Given the description of an element on the screen output the (x, y) to click on. 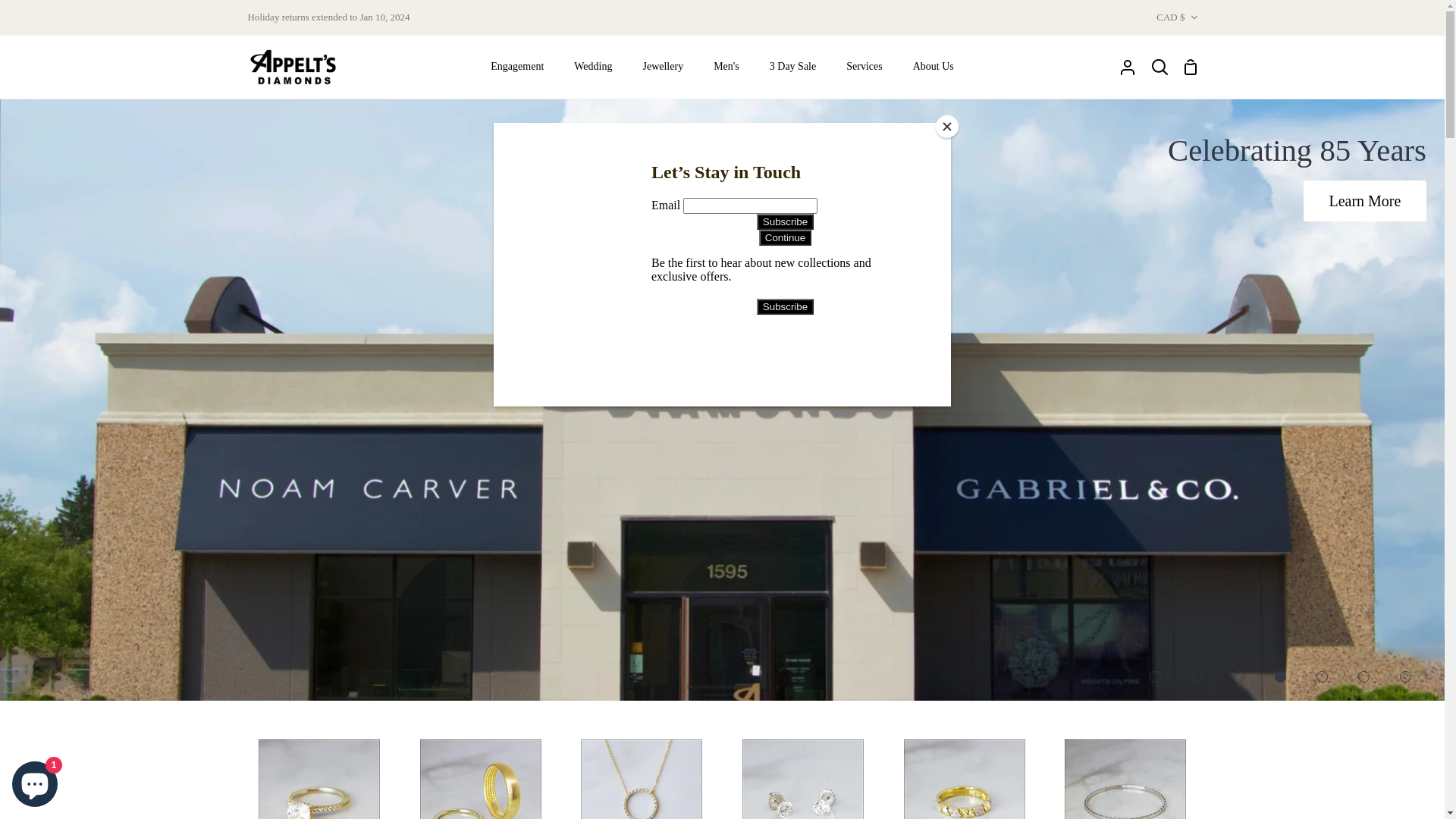
Search Element type: text (1159, 66)
View slide 5 Element type: text (1321, 675)
Learn More Element type: text (1364, 200)
View slide 1 Element type: text (1155, 675)
Men's Element type: text (726, 66)
3 Day Sale Element type: text (792, 66)
My Account Element type: text (1127, 66)
Engagement Element type: text (516, 66)
Wedding Element type: text (592, 66)
Shopify online store chat Element type: hover (34, 780)
Services Element type: text (864, 66)
Jewellery Element type: text (662, 66)
View slide 4 Element type: text (1280, 675)
Shopping Cart Element type: text (1190, 66)
View slide 2 Element type: text (1196, 675)
View slide 3 Element type: text (1238, 675)
CAD $ Element type: text (1176, 17)
View slide 7 Element type: text (1405, 675)
About Us Element type: text (933, 66)
View slide 6 Element type: text (1363, 675)
